Given the description of an element on the screen output the (x, y) to click on. 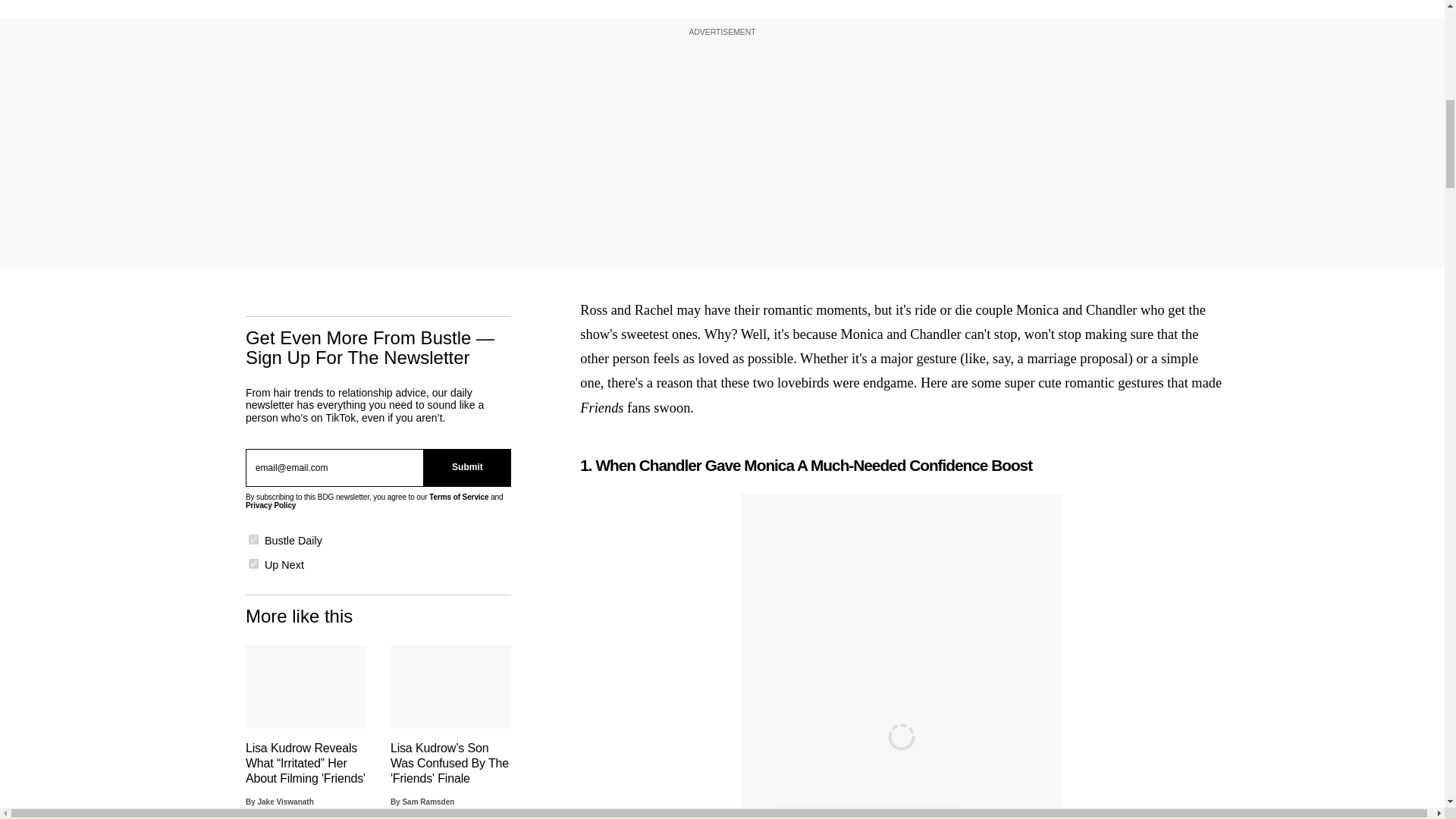
Privacy Policy (270, 505)
Submit (467, 465)
Terms of Service (458, 495)
